Given the description of an element on the screen output the (x, y) to click on. 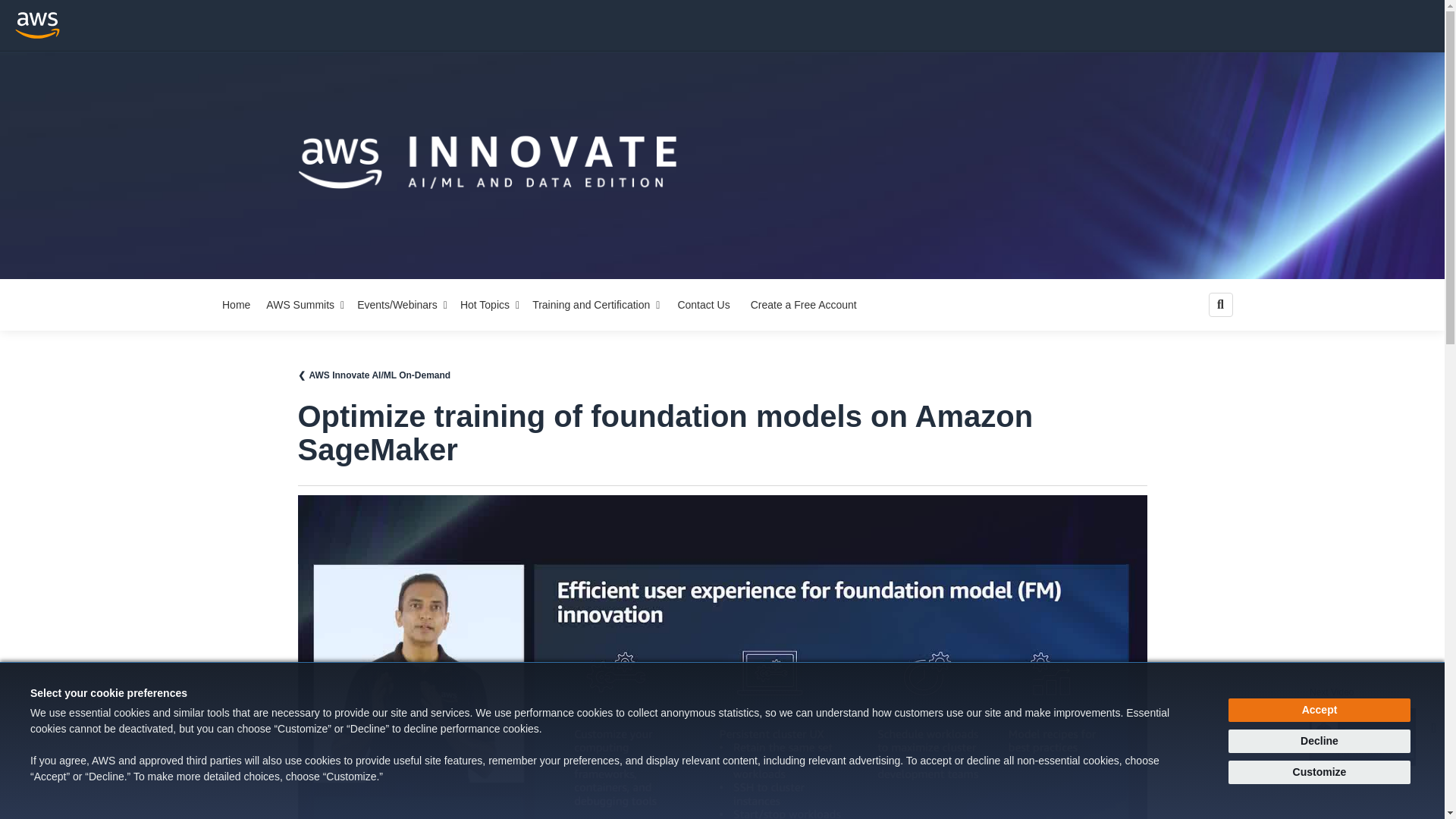
Decline (1319, 740)
Contact Us (702, 304)
Open Search Box (1220, 304)
Open search box (1220, 304)
Home (235, 304)
Accept (490, 304)
Customize (1319, 709)
Create a Free Account (306, 304)
